Given the description of an element on the screen output the (x, y) to click on. 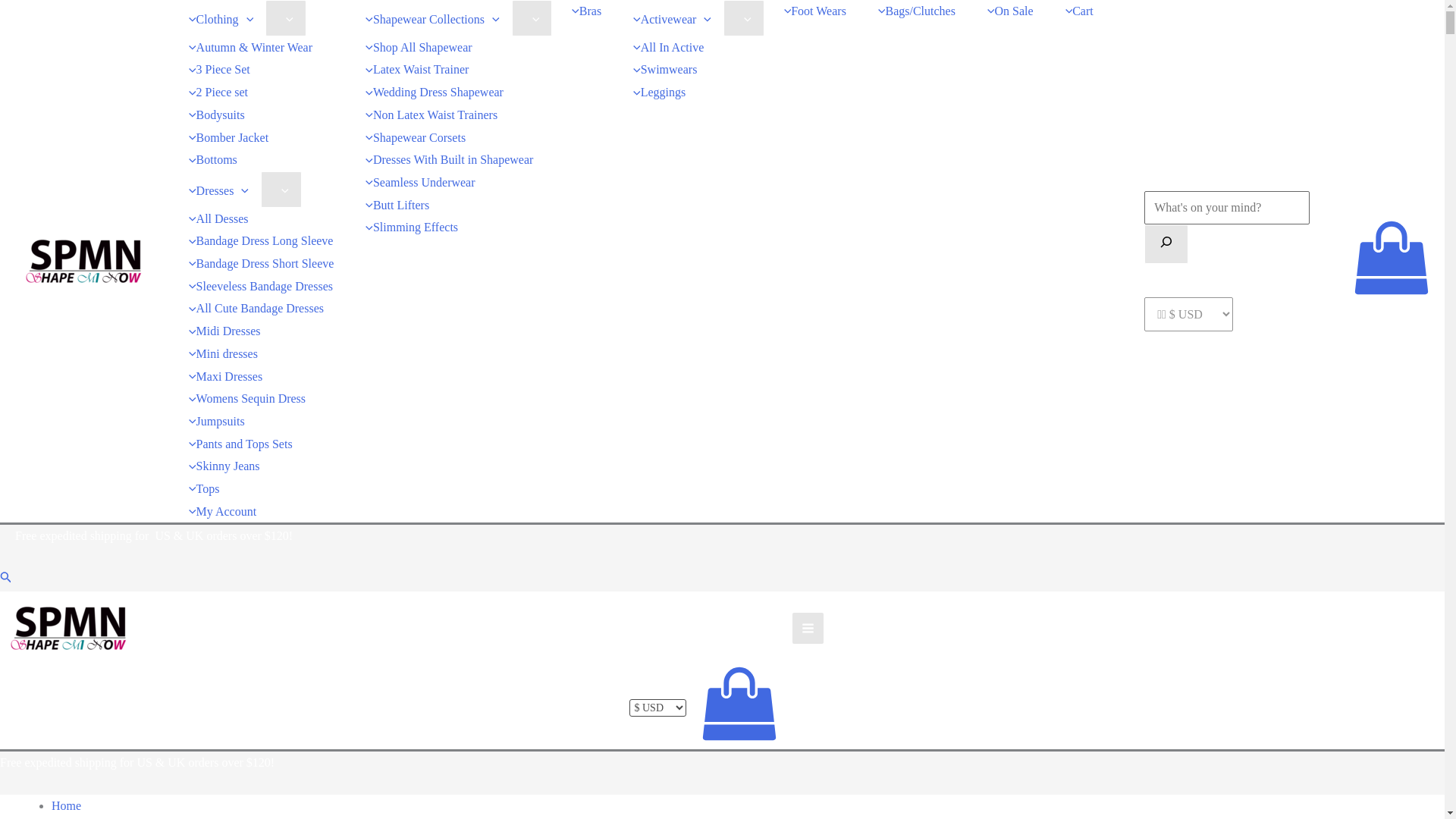
Menu Toggle (532, 18)
Bomber Jacket (224, 137)
Skinny Jeans (220, 466)
All In Active (664, 47)
Shop All Shapewear (414, 47)
All Desses (214, 219)
Bottoms (208, 159)
Bras (581, 11)
Sleeveless Bandage Dresses (256, 286)
Dresses (214, 190)
Non Latex Waist Trainers (427, 115)
Wedding Dress Shapewear (430, 92)
Bandage Dress Short Sleeve (257, 263)
2 Piece set (214, 92)
Womens Sequin Dress (242, 398)
